Given the description of an element on the screen output the (x, y) to click on. 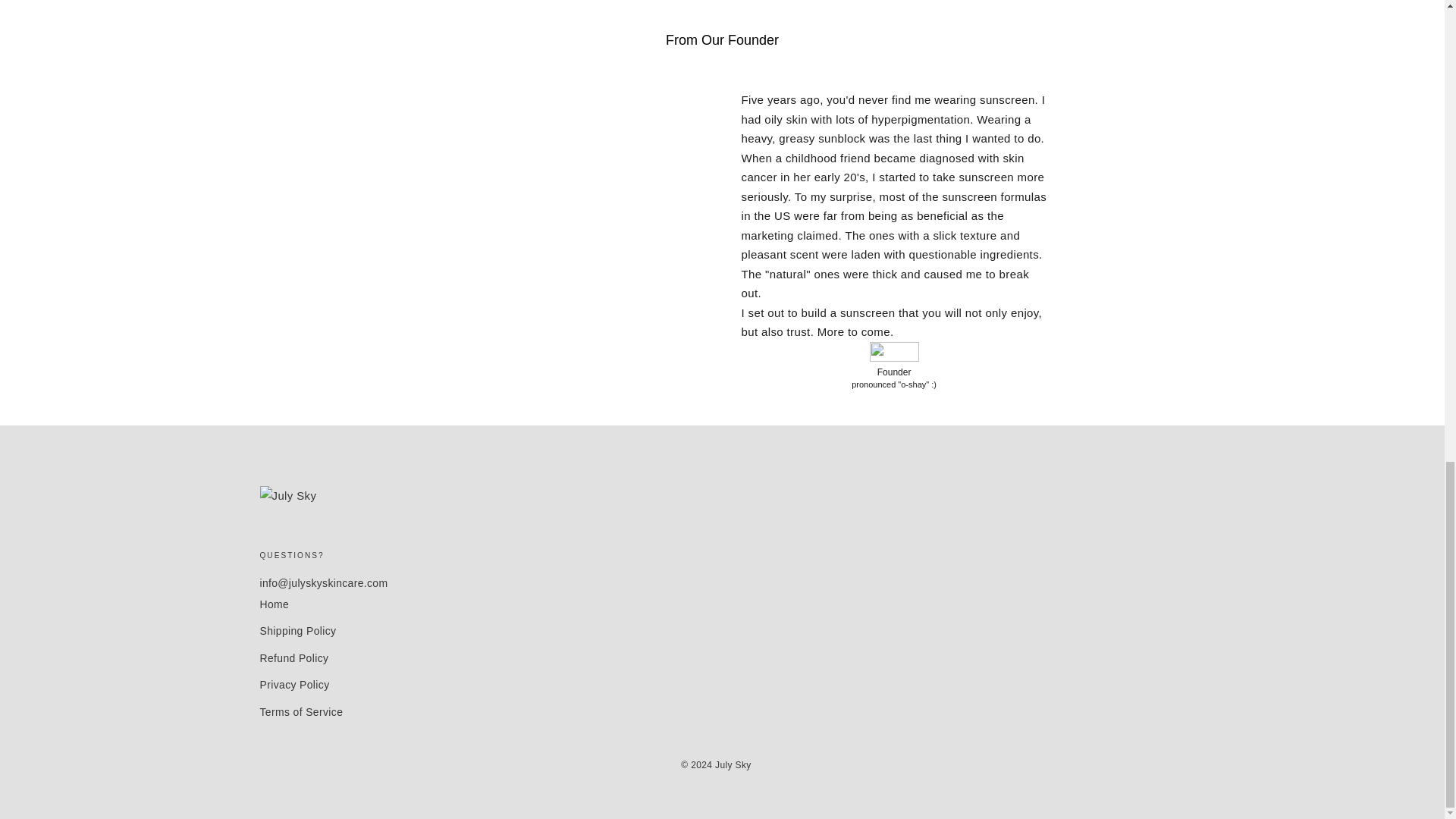
Refund Policy (722, 658)
Terms of Service (722, 712)
Privacy Policy (722, 685)
Home (722, 604)
Shipping Policy (722, 631)
